Given the description of an element on the screen output the (x, y) to click on. 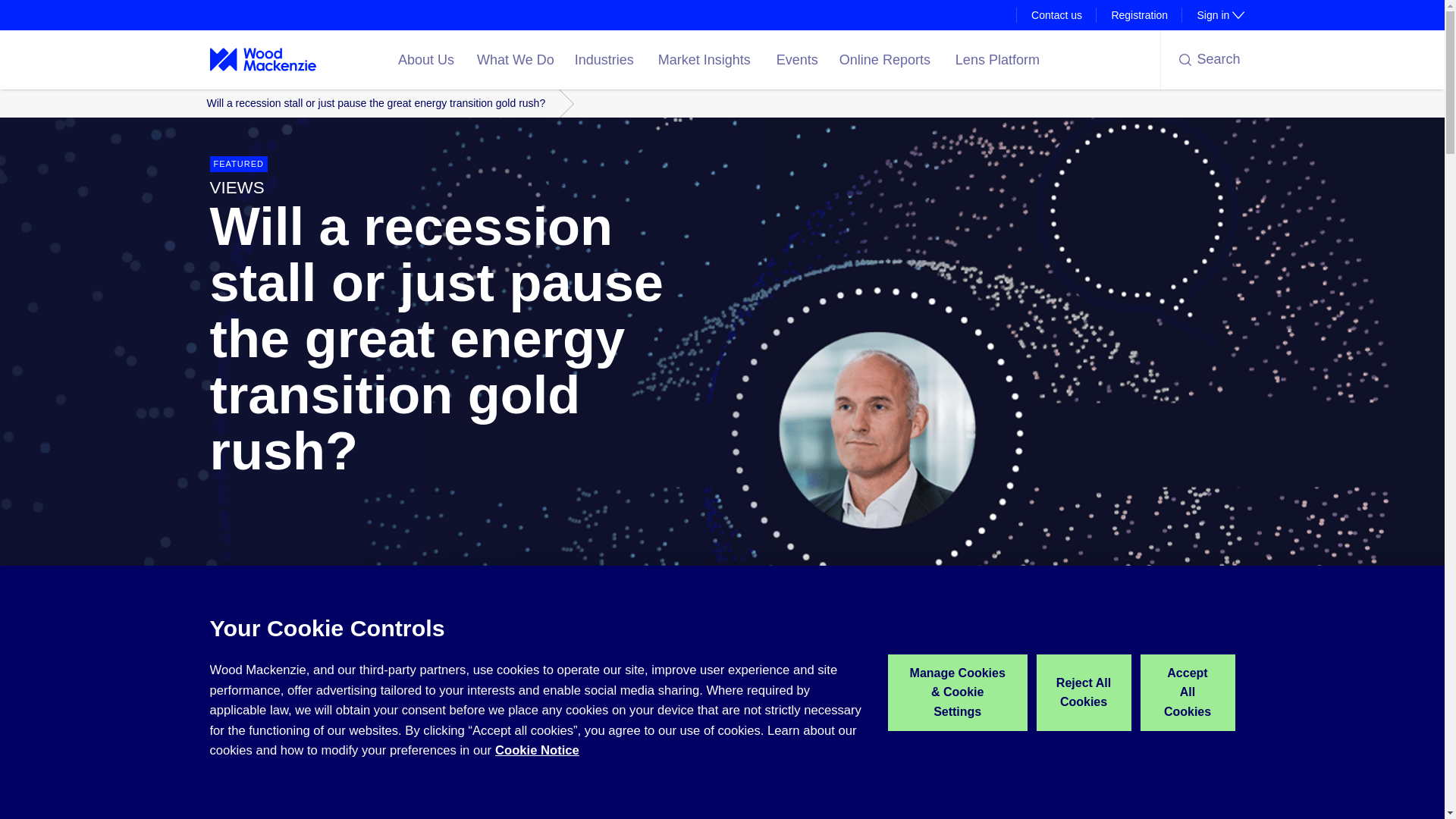
About Us (427, 59)
Registration (1212, 15)
Contact us (1139, 15)
